Given the description of an element on the screen output the (x, y) to click on. 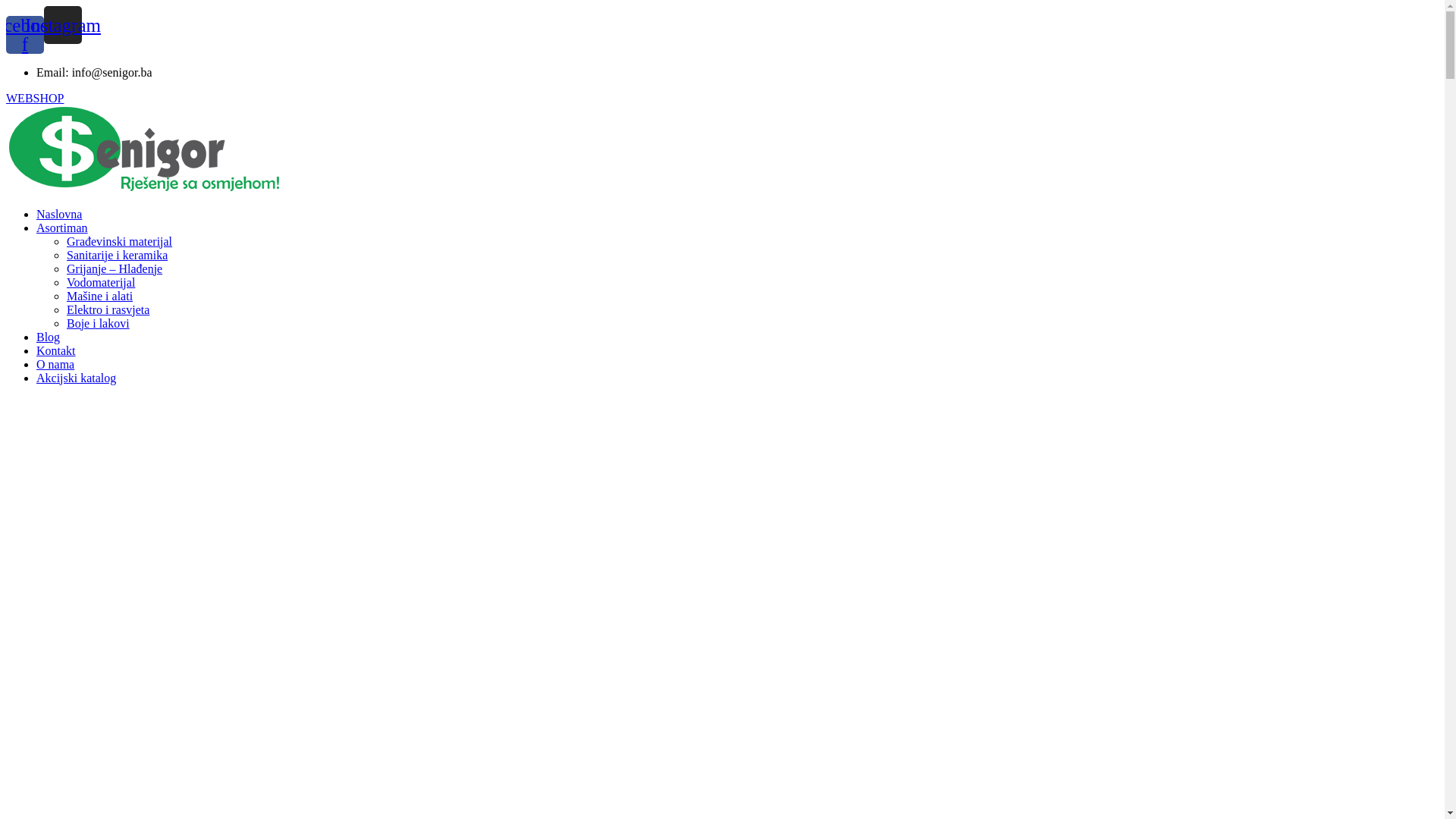
O nama Element type: text (55, 363)
Naslovna Element type: text (58, 213)
Blog Element type: text (47, 336)
Vodomaterijal Element type: text (100, 282)
Facebook-f Element type: text (24, 34)
Instagram Element type: text (62, 24)
Elektro i rasvjeta Element type: text (107, 309)
Boje i lakovi Element type: text (97, 322)
Sanitarije i keramika Element type: text (116, 254)
Asortiman Element type: text (61, 227)
Kontakt Element type: text (55, 350)
WEBSHOP Element type: text (34, 97)
Akcijski katalog Element type: text (76, 377)
